Given the description of an element on the screen output the (x, y) to click on. 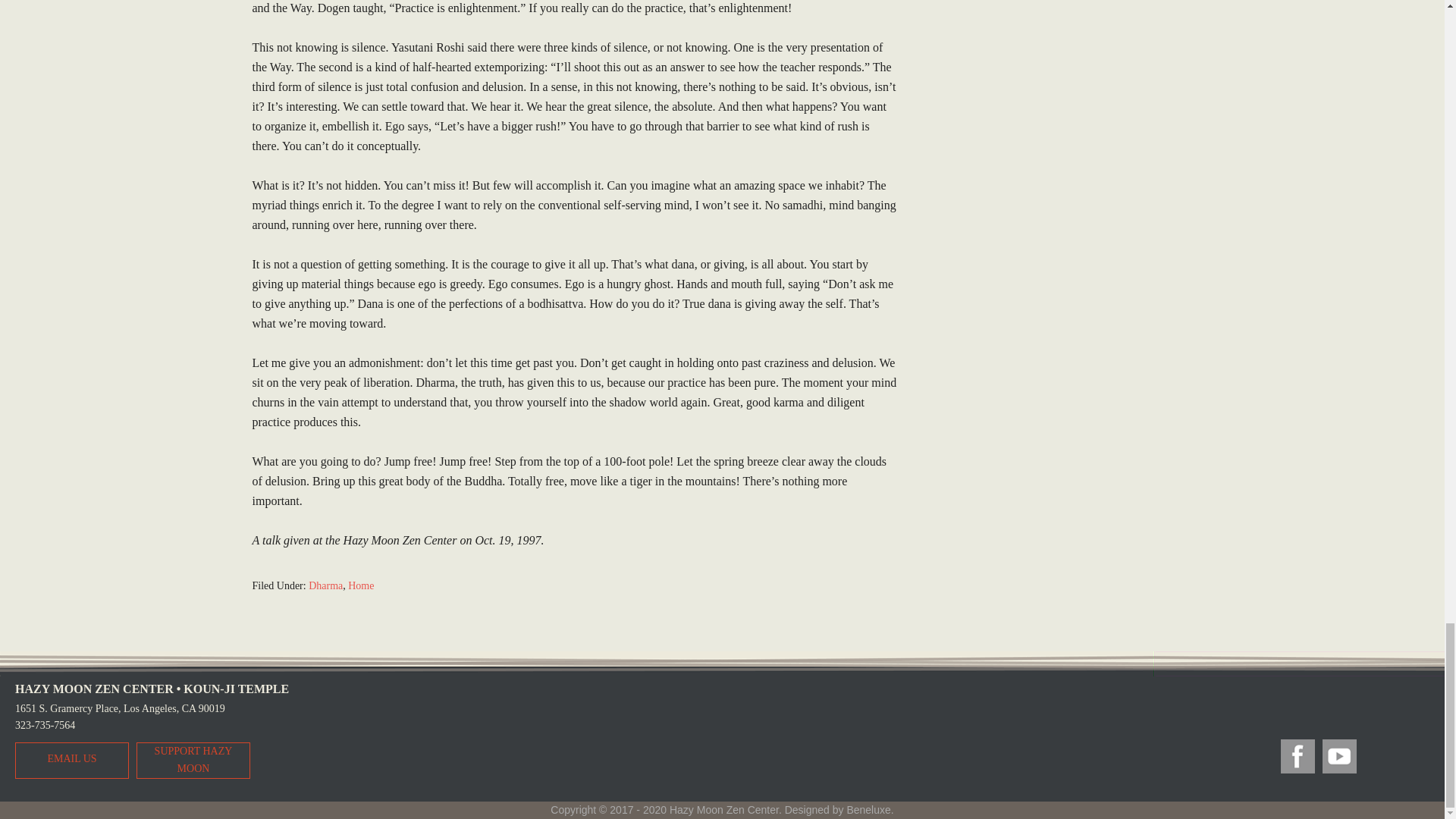
SUPPORT HAZY MOON (193, 759)
Beneluxe (867, 809)
Dharma (325, 585)
EMAIL US (71, 758)
Home (360, 585)
